Given the description of an element on the screen output the (x, y) to click on. 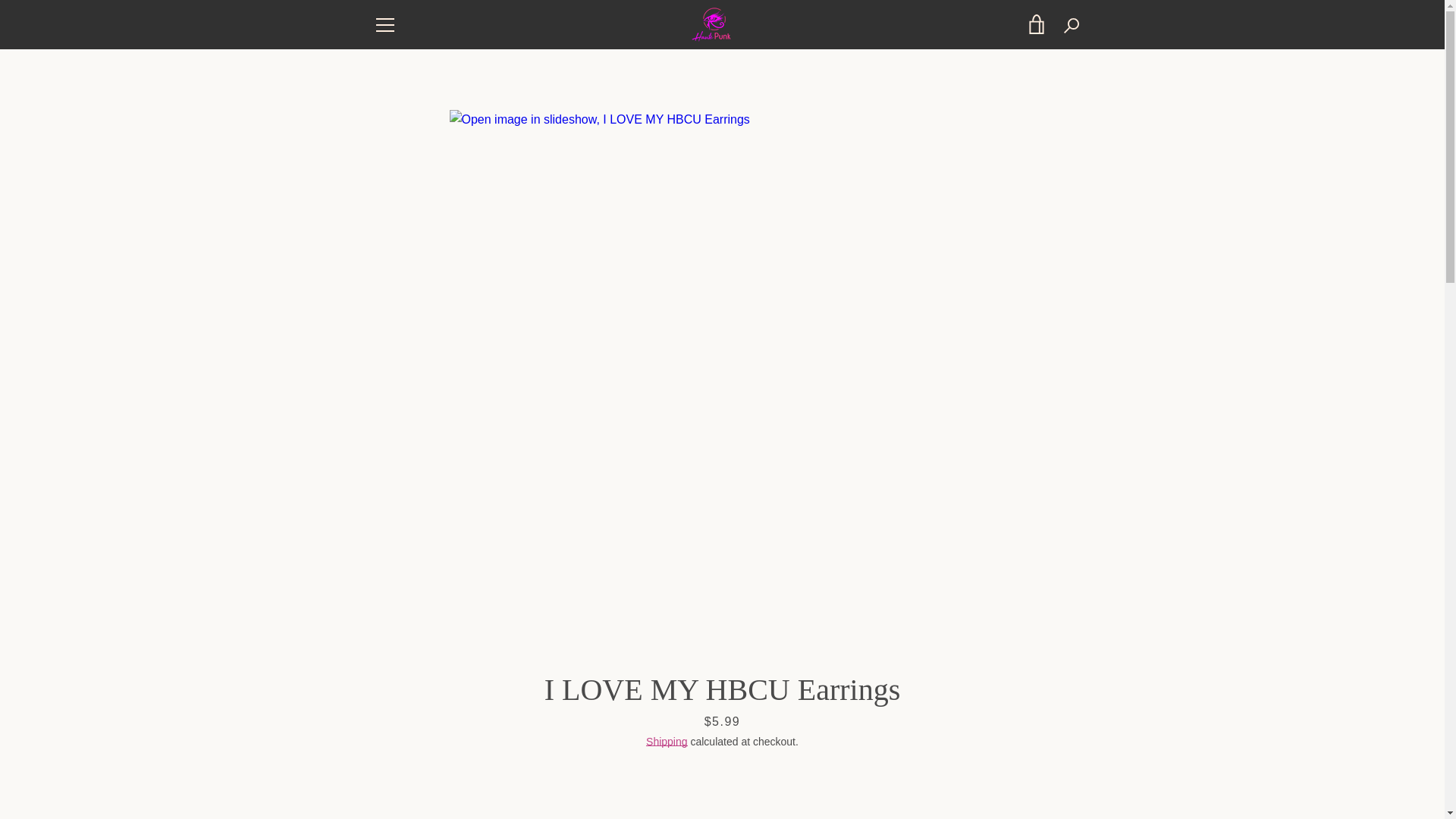
Google Pay (1057, 755)
Shop Pay (988, 778)
Haute Punk Boutique on Instagram (452, 765)
Haute Punk Boutique on Pinterest (424, 765)
Diners Club (953, 755)
MENU (384, 24)
Discover (988, 755)
Mastercard (918, 778)
VIEW CART (1036, 24)
Haute Punk Boutique on Facebook (372, 765)
PayPal (953, 778)
Haute Punk Boutique on YouTube (504, 765)
Meta Pay (1022, 755)
American Express (883, 755)
